Given the description of an element on the screen output the (x, y) to click on. 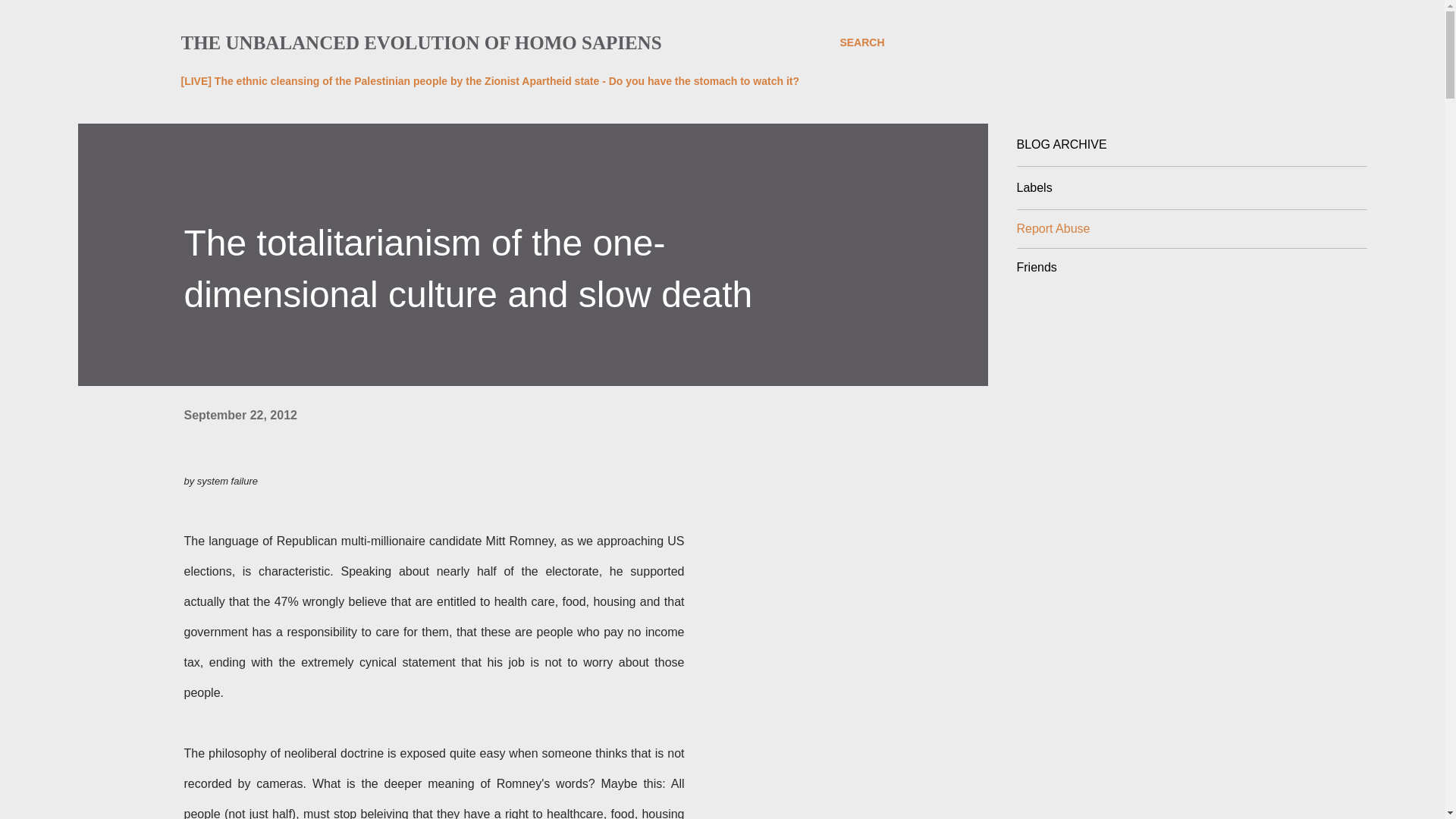
permanent link (240, 414)
SEARCH (861, 42)
THE UNBALANCED EVOLUTION OF HOMO SAPIENS (420, 42)
September 22, 2012 (240, 414)
